Given the description of an element on the screen output the (x, y) to click on. 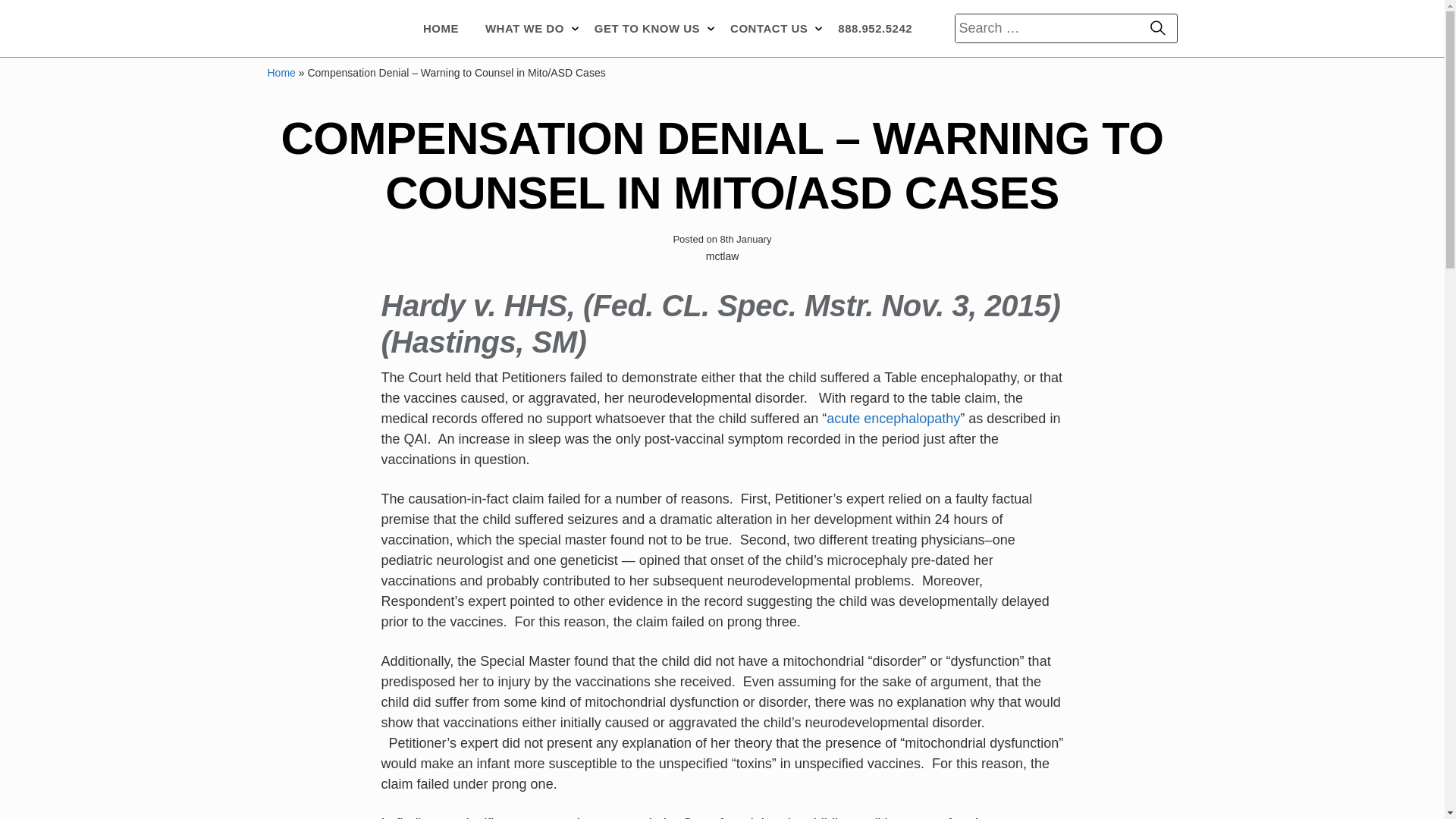
GET TO KNOW US (648, 28)
HOME (441, 28)
mctlaw (323, 28)
Search (1157, 28)
WHAT WE DO (526, 28)
888.952.5242 (875, 28)
Search (1157, 28)
Home (280, 72)
Search (1157, 28)
CONTACT US (770, 28)
acute encephalopathy (893, 418)
